Given the description of an element on the screen output the (x, y) to click on. 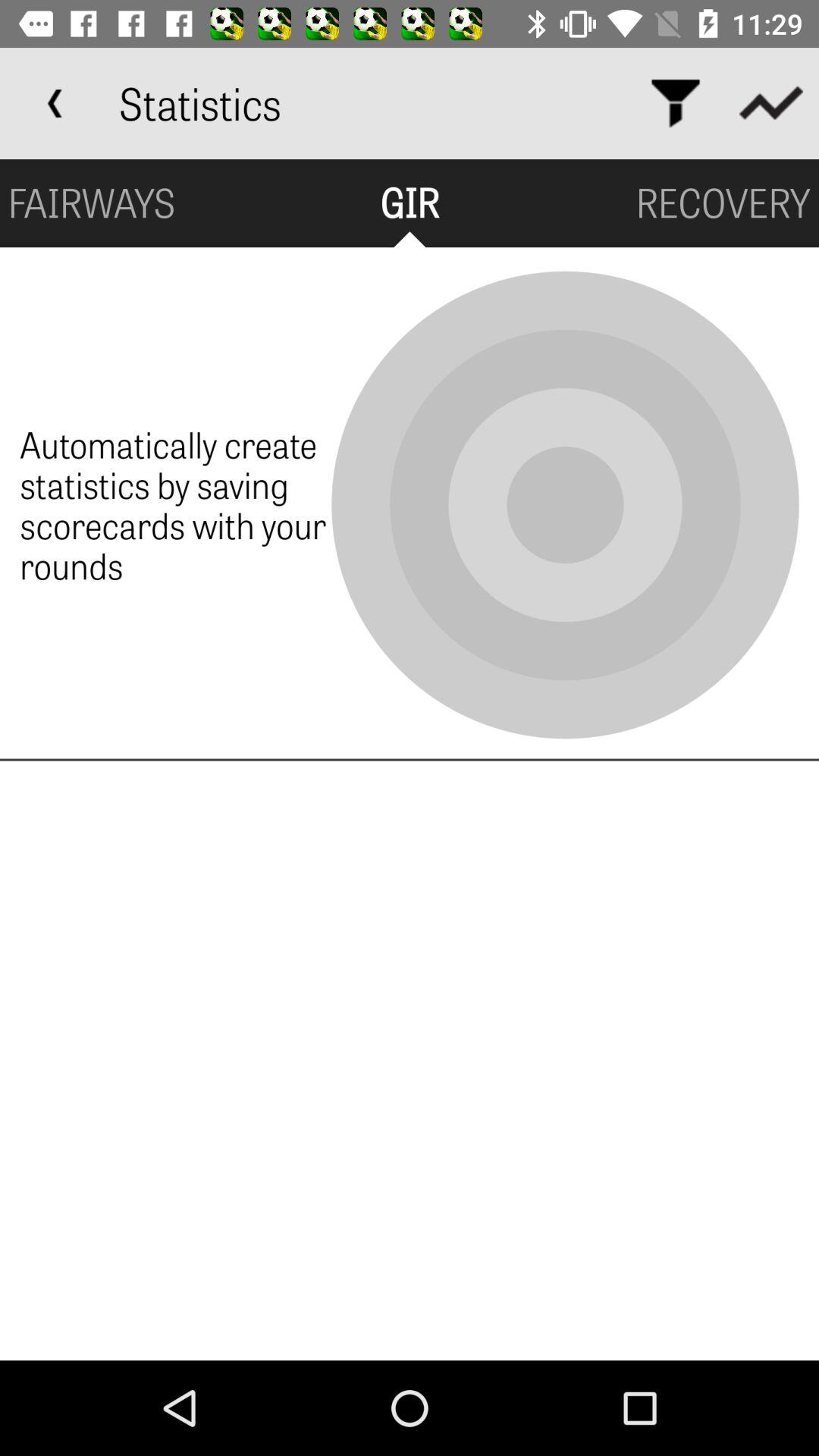
launch app next to the statistics app (55, 103)
